Given the description of an element on the screen output the (x, y) to click on. 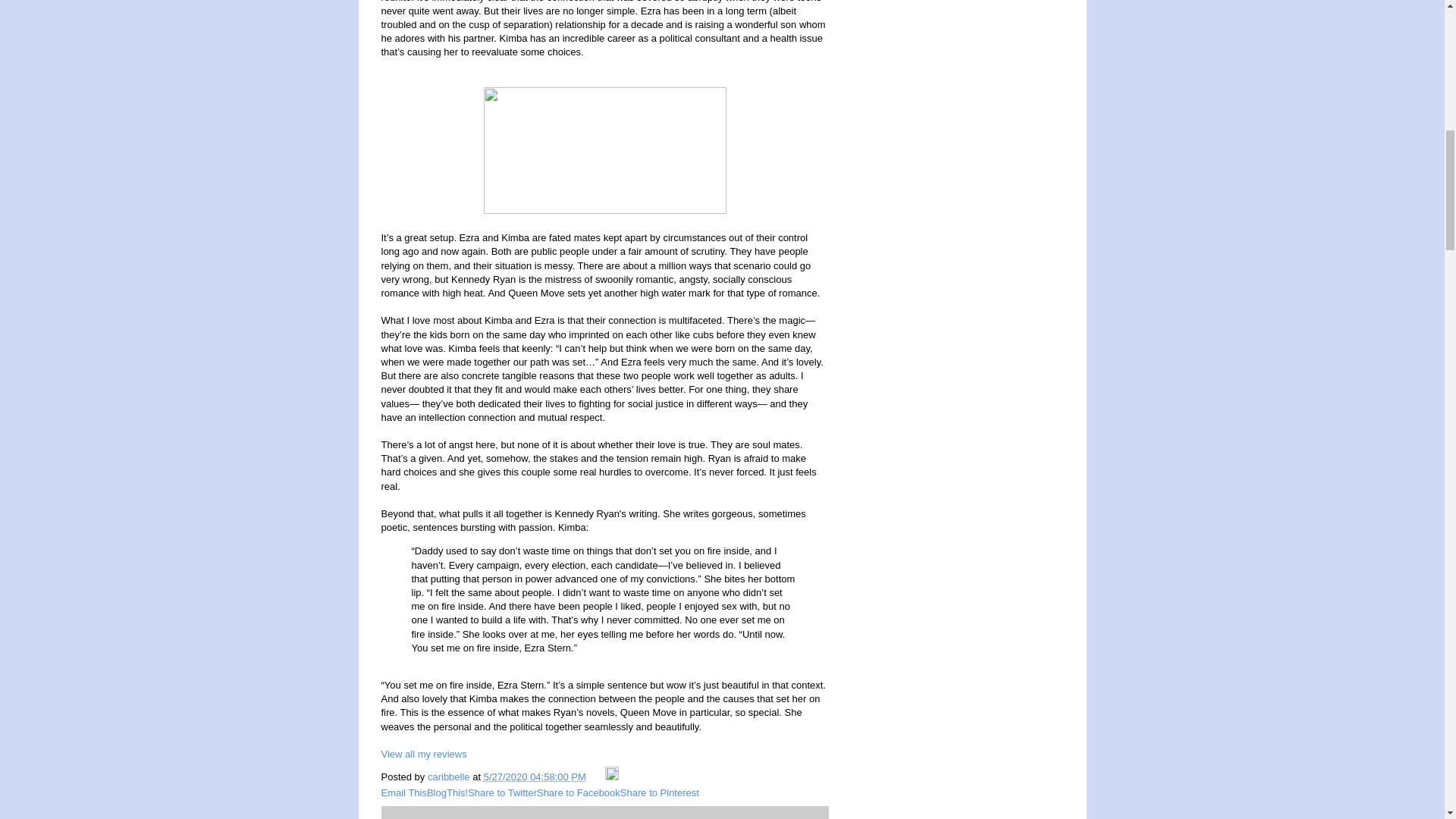
Edit Post (611, 776)
Share to Pinterest (659, 792)
Email Post (596, 776)
BlogThis! (446, 792)
author profile (449, 776)
permanent link (534, 776)
Share to Facebook (578, 792)
caribbelle (449, 776)
View all my reviews (422, 754)
Share to Pinterest (659, 792)
Email This (403, 792)
Email This (403, 792)
BlogThis! (446, 792)
Share to Twitter (502, 792)
Share to Facebook (578, 792)
